Given the description of an element on the screen output the (x, y) to click on. 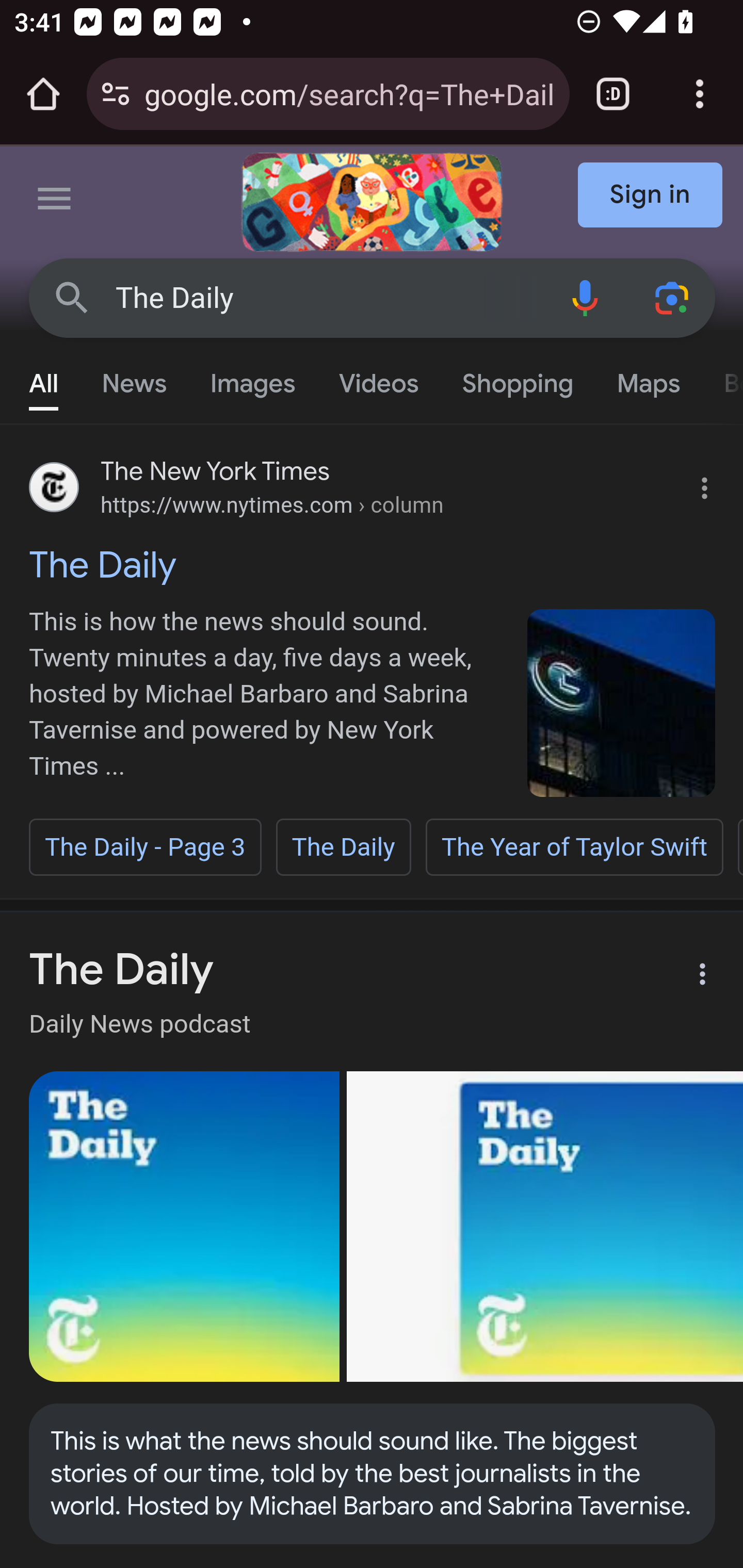
Open the home page (43, 93)
Connection is secure (115, 93)
Switch or close tabs (612, 93)
Customize and control Google Chrome (699, 93)
Main menu (54, 202)
Sign in (650, 195)
Google Search (71, 296)
Search using your camera or photos (672, 296)
The Daily (328, 297)
News (134, 378)
Images (252, 378)
Videos (378, 378)
Shopping (516, 378)
Maps (647, 378)
The Daily (372, 564)
the-daily (621, 703)
The Daily - Page 3 (144, 847)
The Daily (342, 847)
The Year of Taylor Swift (573, 847)
More options (690, 976)
The Daily (podcast) - Wikipedia (184, 1226)
